Given the description of an element on the screen output the (x, y) to click on. 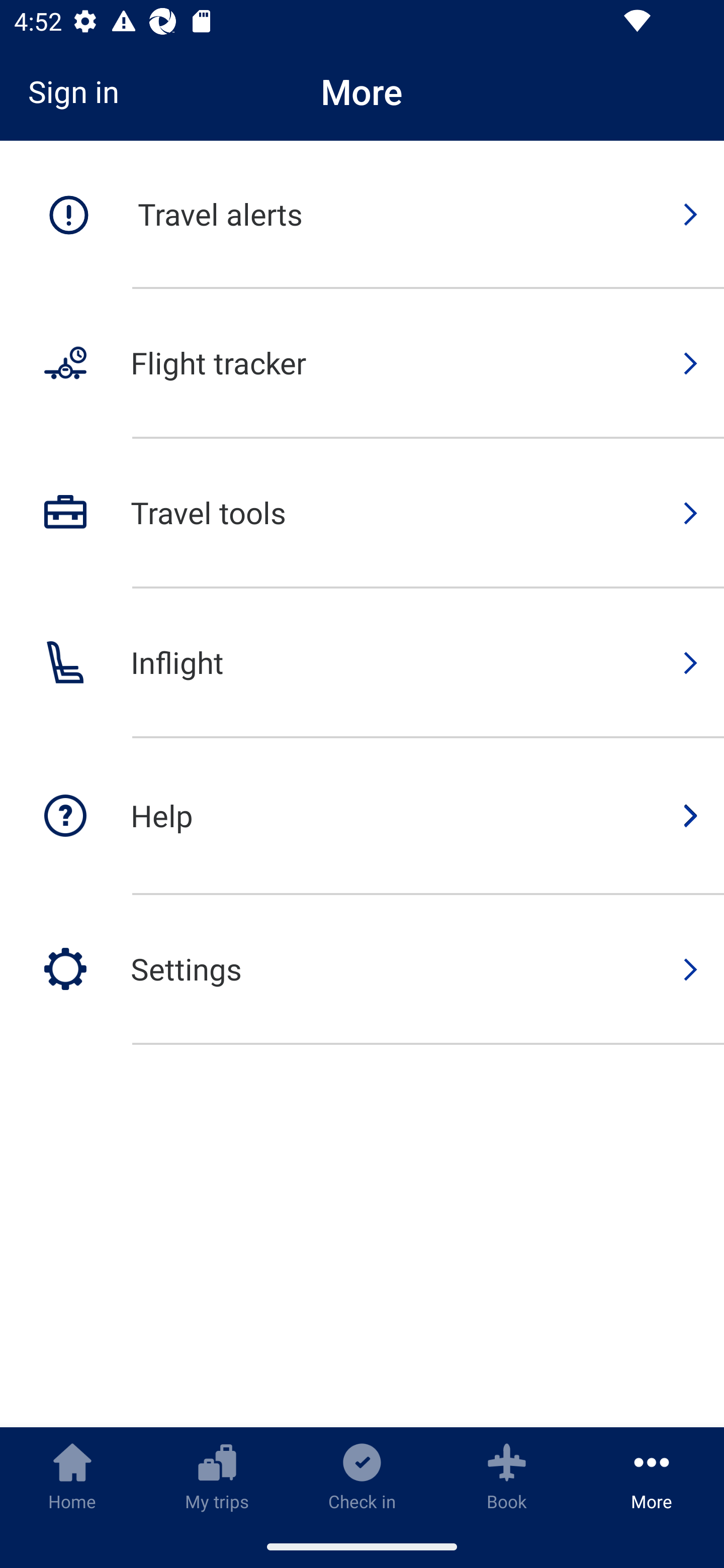
Sign in (80, 91)
Travel alerts (362, 214)
Flight tracker (362, 363)
Travel tools (362, 513)
Inflight (362, 663)
Help (362, 816)
Settings (362, 969)
Home (72, 1475)
My trips (216, 1475)
Check in (361, 1475)
Book (506, 1475)
